Given the description of an element on the screen output the (x, y) to click on. 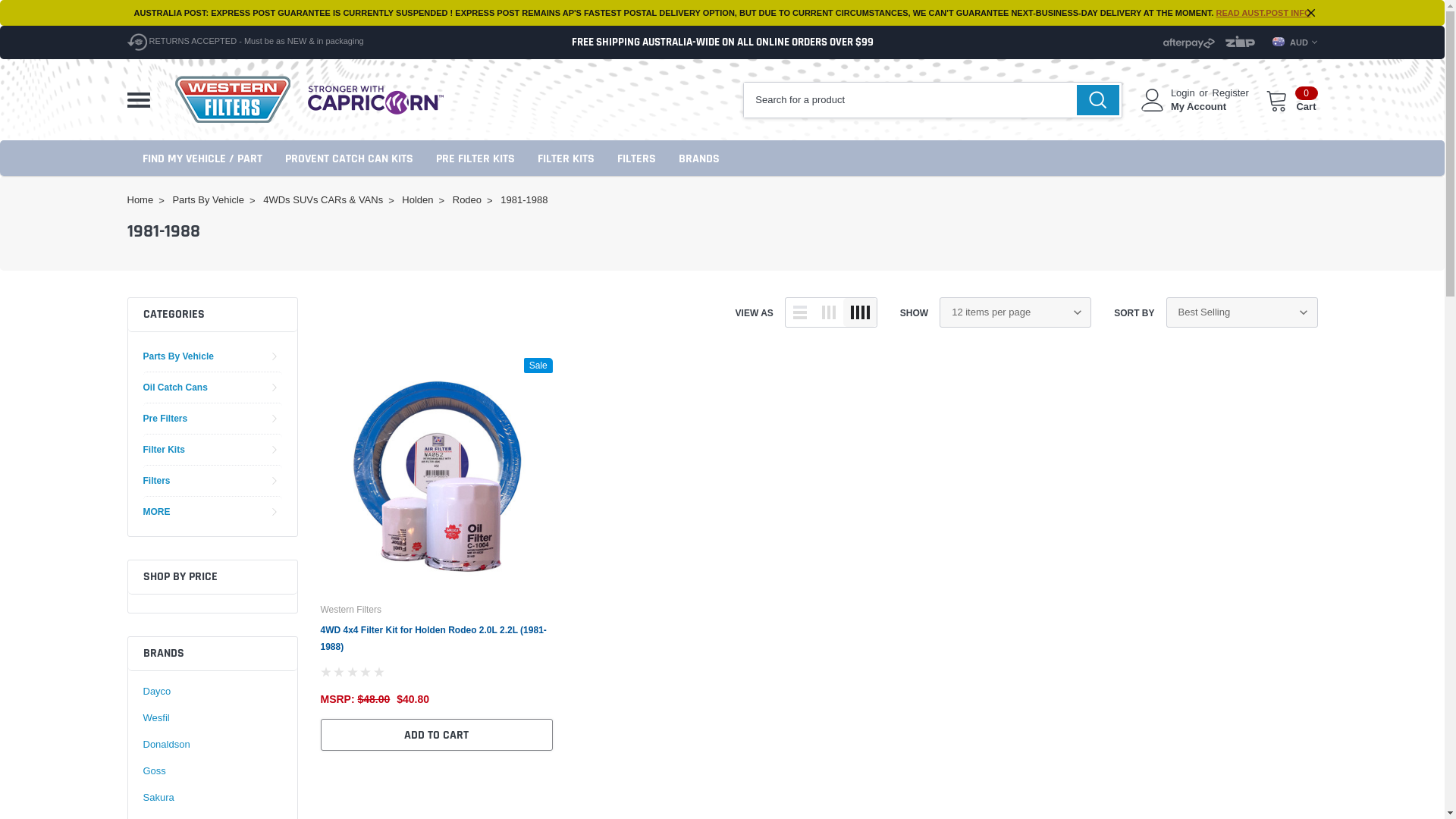
Rodeo Element type: text (466, 199)
4WD 4x4 Filter Kit for Holden Rodeo 2.0L 2.2L (1981-1988) Element type: hover (436, 473)
Home Element type: text (140, 199)
Grid View 4 Element type: hover (859, 311)
BRANDS Element type: text (697, 158)
4WD 4x4 Filter Kit for Holden Rodeo 2.0L 2.2L (1981-1988) Element type: text (433, 638)
Parts By Vehicle Element type: text (208, 199)
FIND MY VEHICLE / PART Element type: text (202, 158)
Login Element type: text (1182, 93)
ADD TO CART Element type: text (436, 734)
0
Cart Element type: text (1291, 99)
MORE Element type: text (155, 510)
Register Element type: text (1230, 93)
Grid View 3 Element type: hover (828, 311)
Goss Element type: text (153, 770)
Filters Element type: text (155, 480)
PROVENT CATCH CAN KITS Element type: text (349, 158)
List View Element type: hover (799, 311)
Filter Kits Element type: text (163, 448)
Dayco Element type: text (156, 690)
Sakura Element type: text (157, 796)
Parts By Vehicle Element type: text (177, 356)
Western Filters Element type: hover (232, 99)
Pre Filters Element type: text (164, 418)
FILTERS Element type: text (636, 158)
4WDs SUVs CARs & VANs Element type: text (322, 199)
Oil Catch Cans Element type: text (174, 386)
FILTER KITS Element type: text (564, 158)
READ AUST.POST INFO Element type: text (1263, 12)
Toggle menu Element type: text (138, 99)
AUD Element type: text (1294, 42)
Donaldson Element type: text (165, 743)
Holden Element type: text (417, 199)
PRE FILTER KITS Element type: text (474, 158)
My Account Element type: text (1198, 106)
Wesfil Element type: text (155, 717)
